Given the description of an element on the screen output the (x, y) to click on. 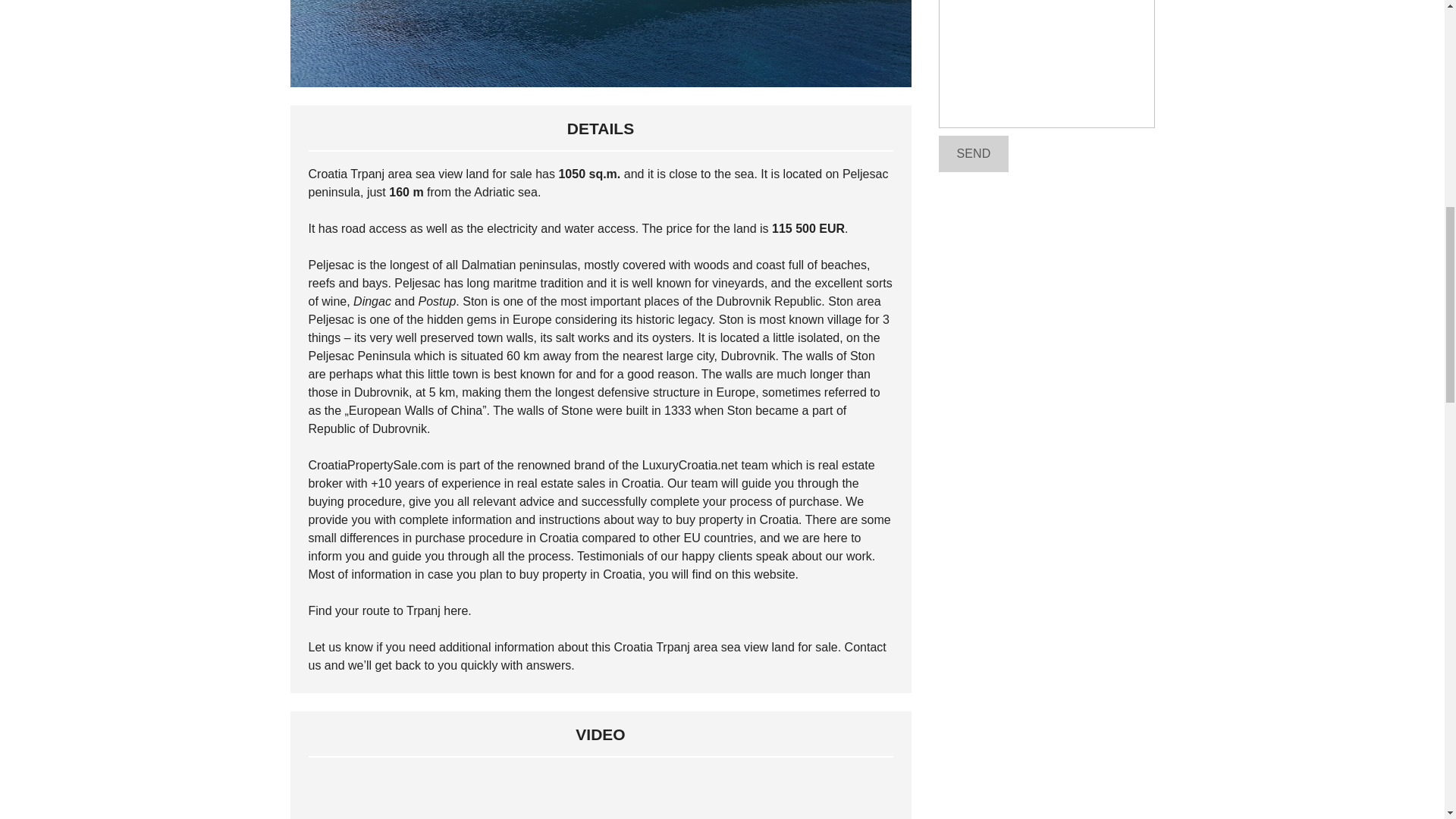
Send (974, 153)
for sale (817, 646)
here (455, 610)
Send (974, 153)
website (774, 574)
